Given the description of an element on the screen output the (x, y) to click on. 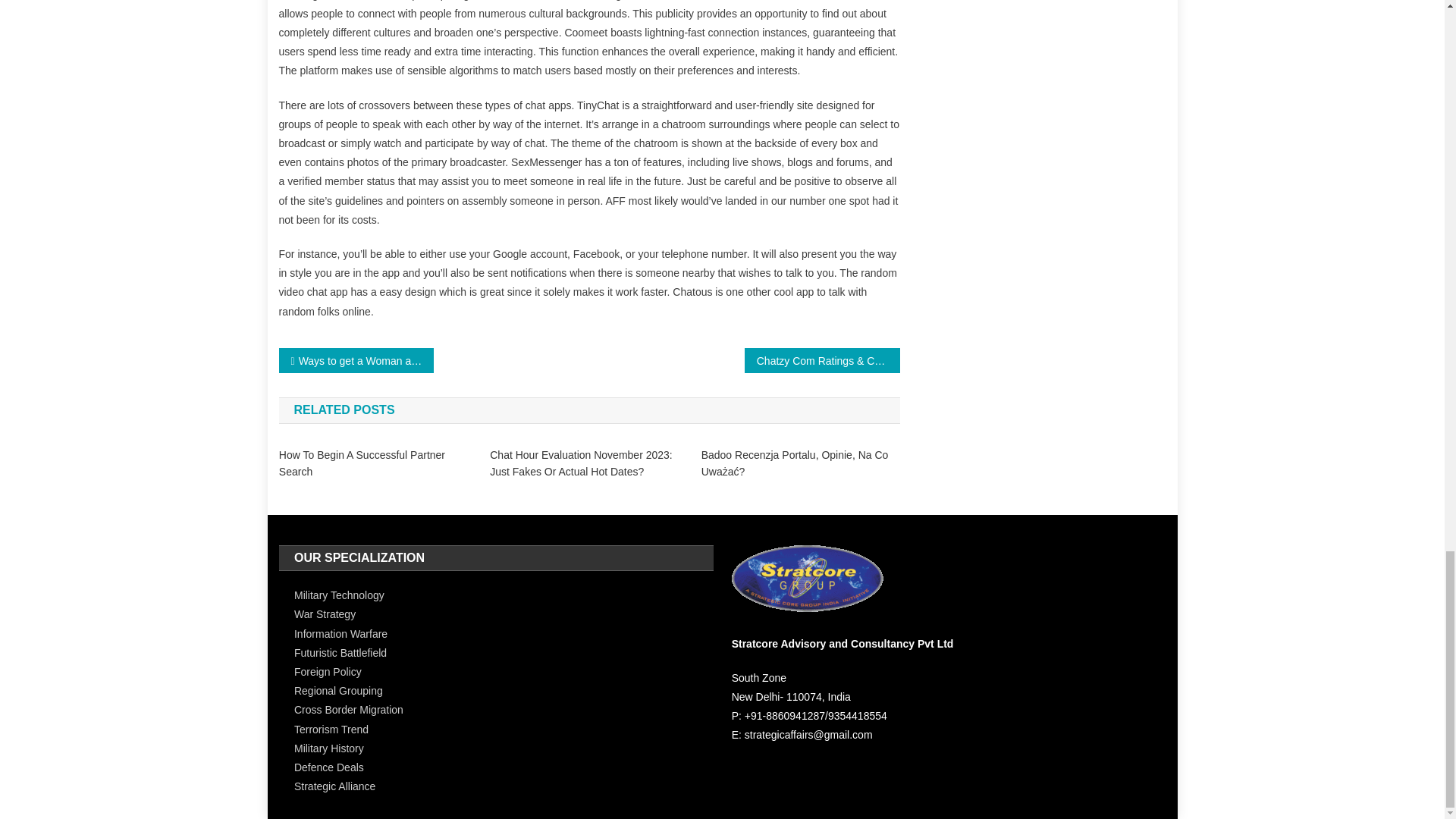
How To Begin A Successful Partner Search (378, 462)
